Given the description of an element on the screen output the (x, y) to click on. 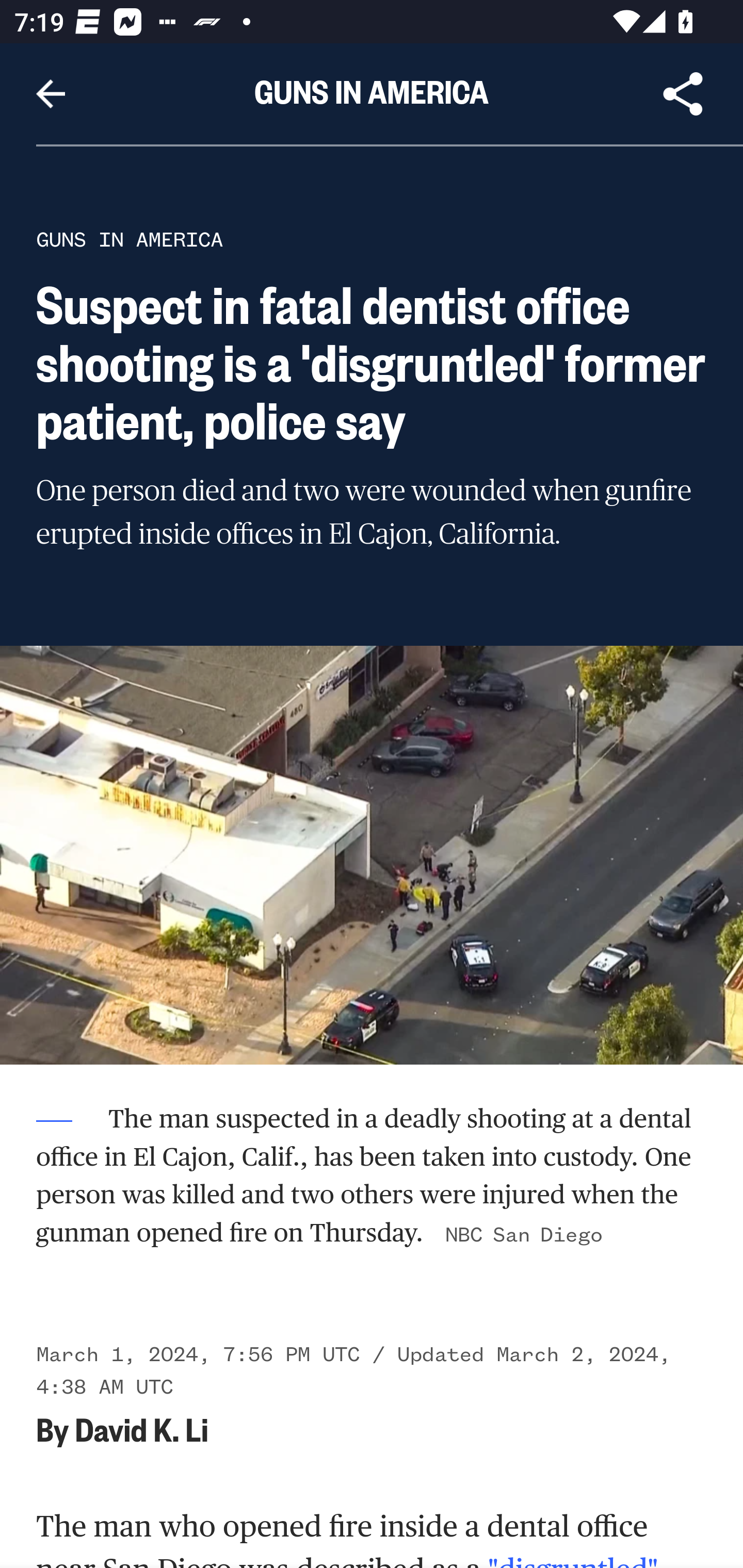
Navigate up (50, 93)
Share Article, button (683, 94)
GUNS IN AMERICA (129, 239)
David K. Li (141, 1428)
